Given the description of an element on the screen output the (x, y) to click on. 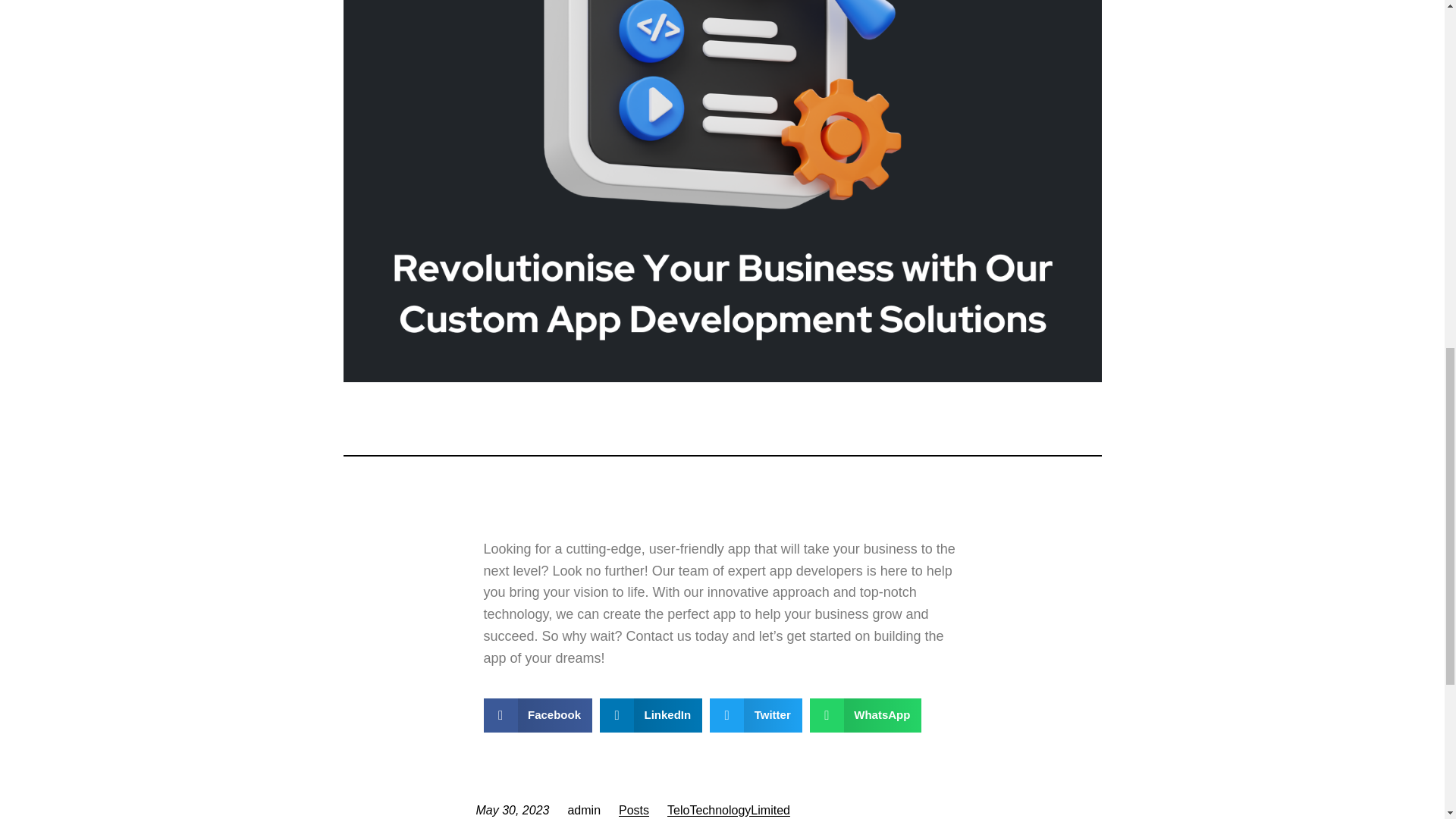
TeloTechnologyLimited (728, 809)
Posts (633, 809)
